Given the description of an element on the screen output the (x, y) to click on. 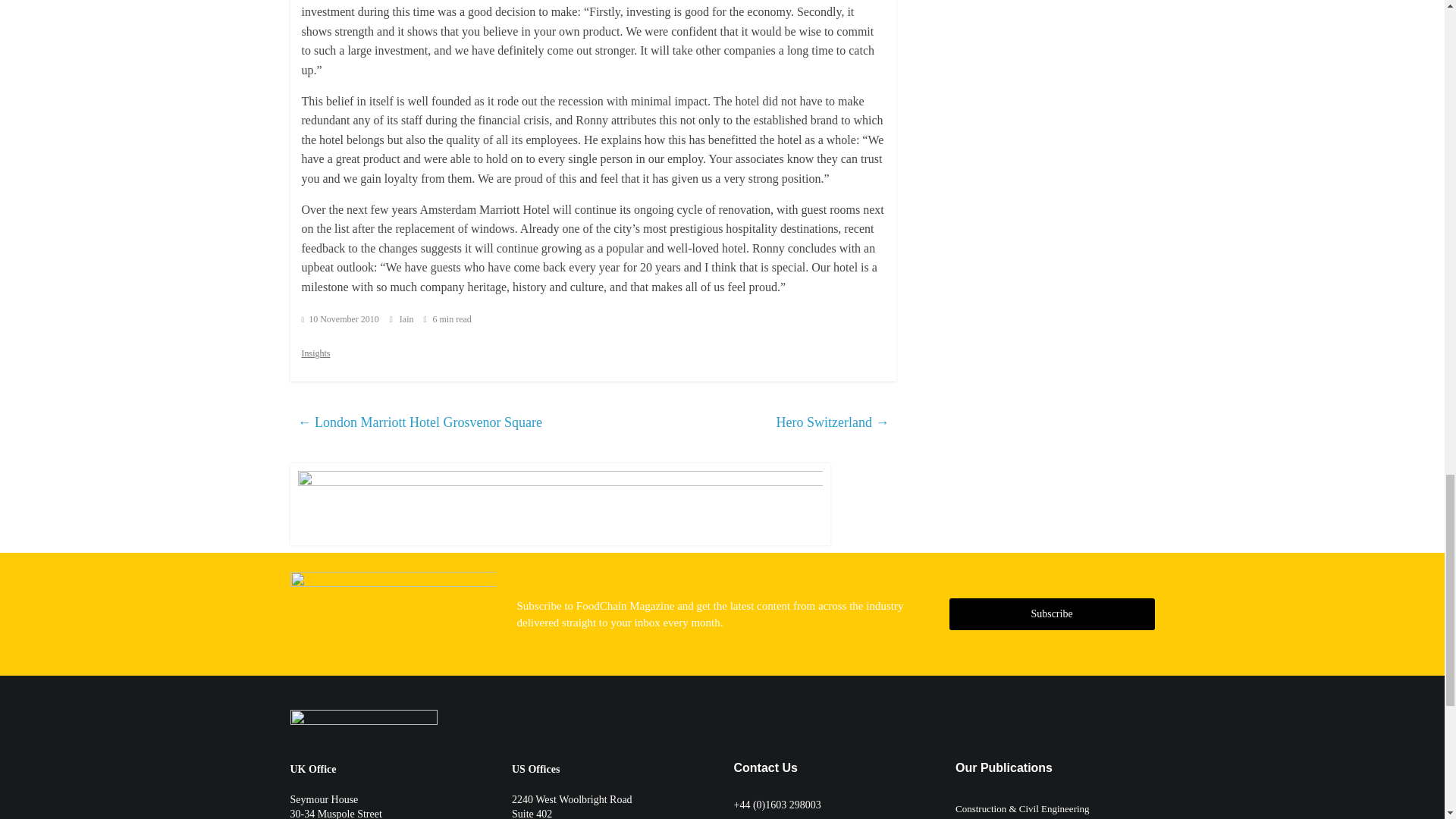
Iain (407, 318)
10 November 2010 (339, 318)
Subscribe (1051, 613)
Iain (407, 318)
Insights (315, 353)
10:20 am (339, 318)
